Given the description of an element on the screen output the (x, y) to click on. 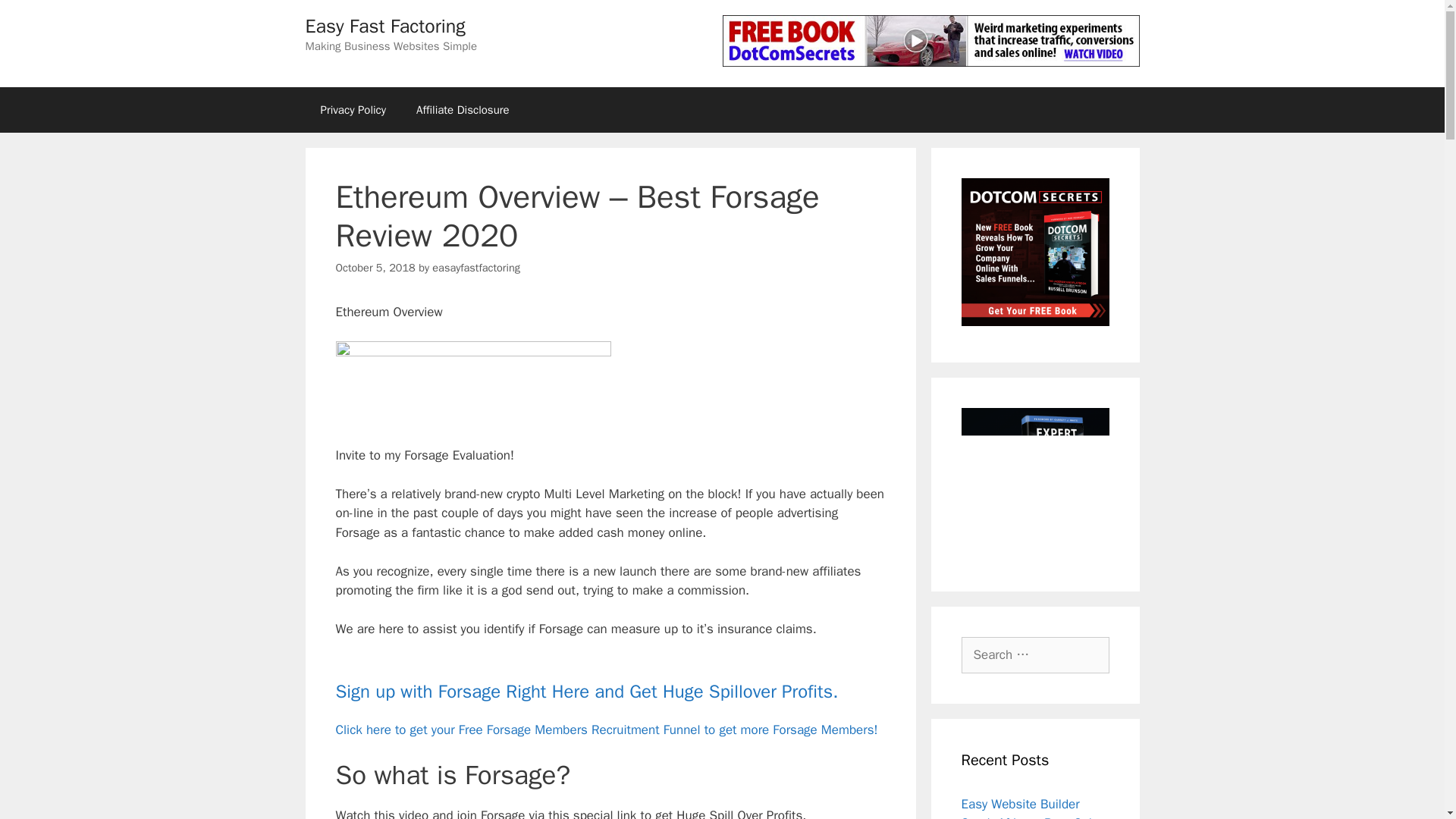
Search (35, 18)
Easy Fast Factoring (384, 25)
Affiliate Disclosure (462, 109)
easayfastfactoring (475, 267)
Privacy Policy (352, 109)
View all posts by easayfastfactoring (475, 267)
Search for: (1034, 655)
